Given the description of an element on the screen output the (x, y) to click on. 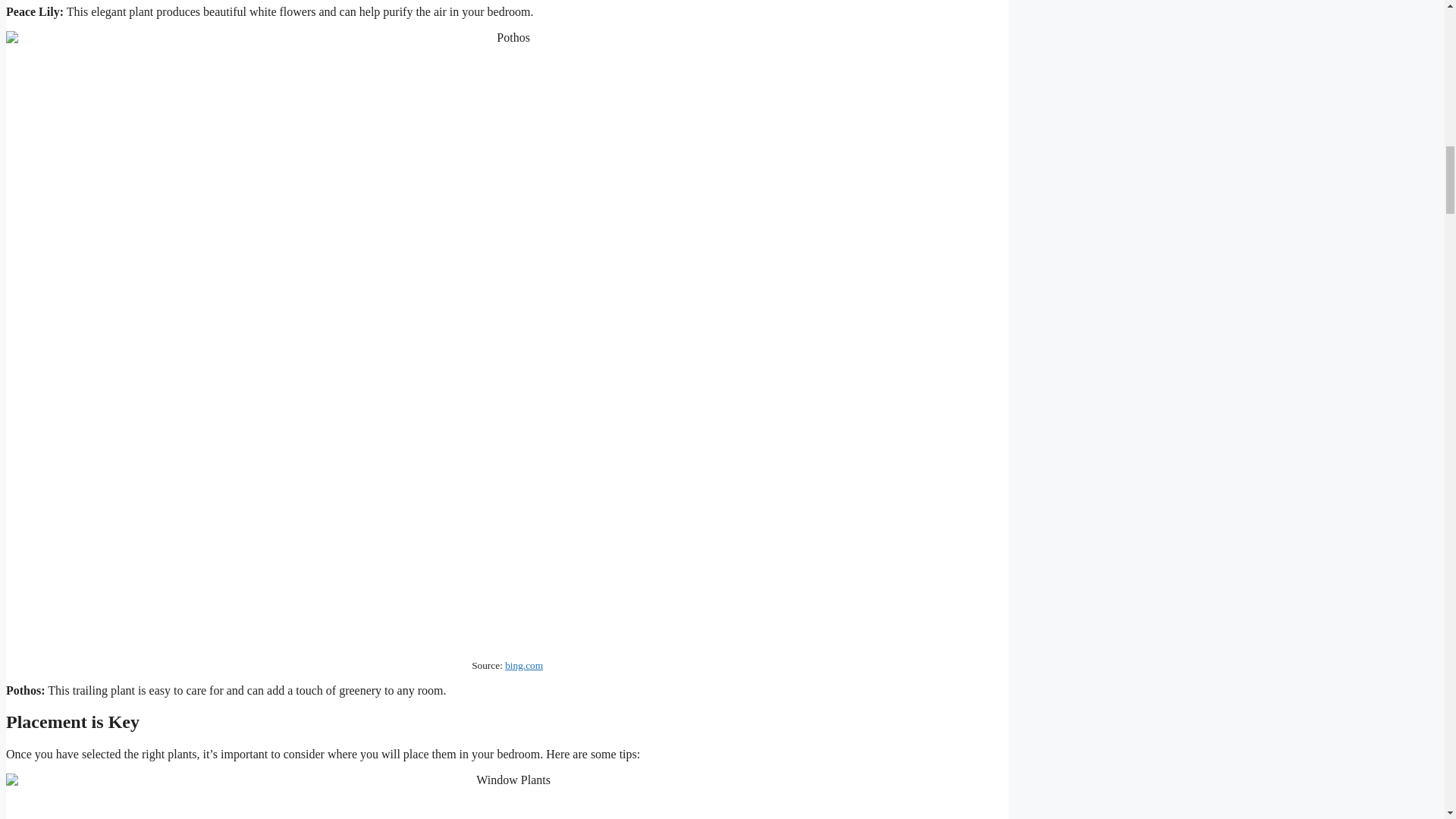
bing.com (524, 665)
